Given the description of an element on the screen output the (x, y) to click on. 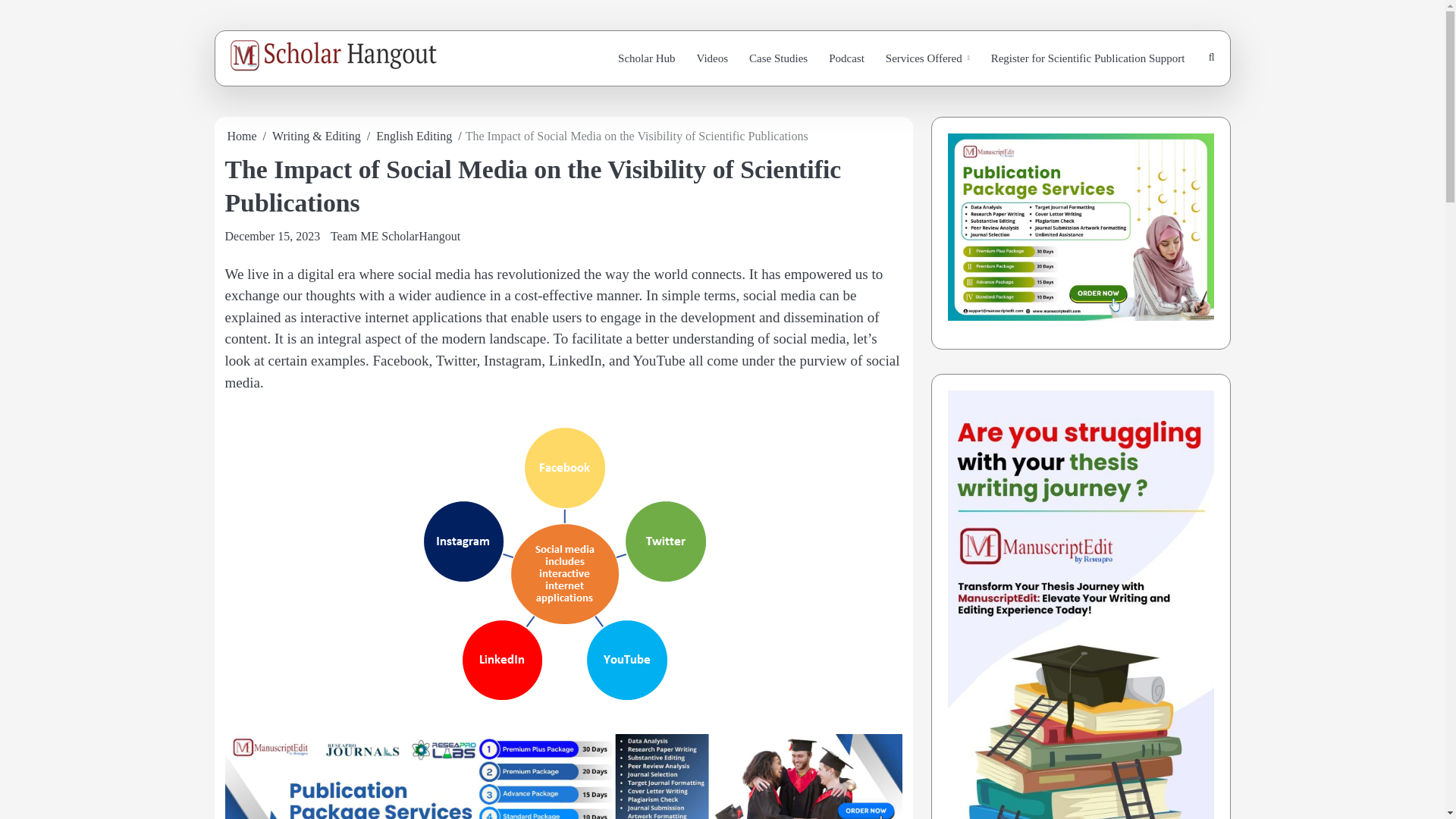
Team ME ScholarHangout (395, 236)
Scholar Hub (646, 58)
Case Studies (778, 58)
Podcast (846, 58)
Search (1175, 100)
Services Offered (927, 58)
Videos (711, 58)
December 15, 2023 (272, 236)
Home (242, 135)
English Editing (413, 135)
Register for Scientific Publication Support (1087, 58)
